Given the description of an element on the screen output the (x, y) to click on. 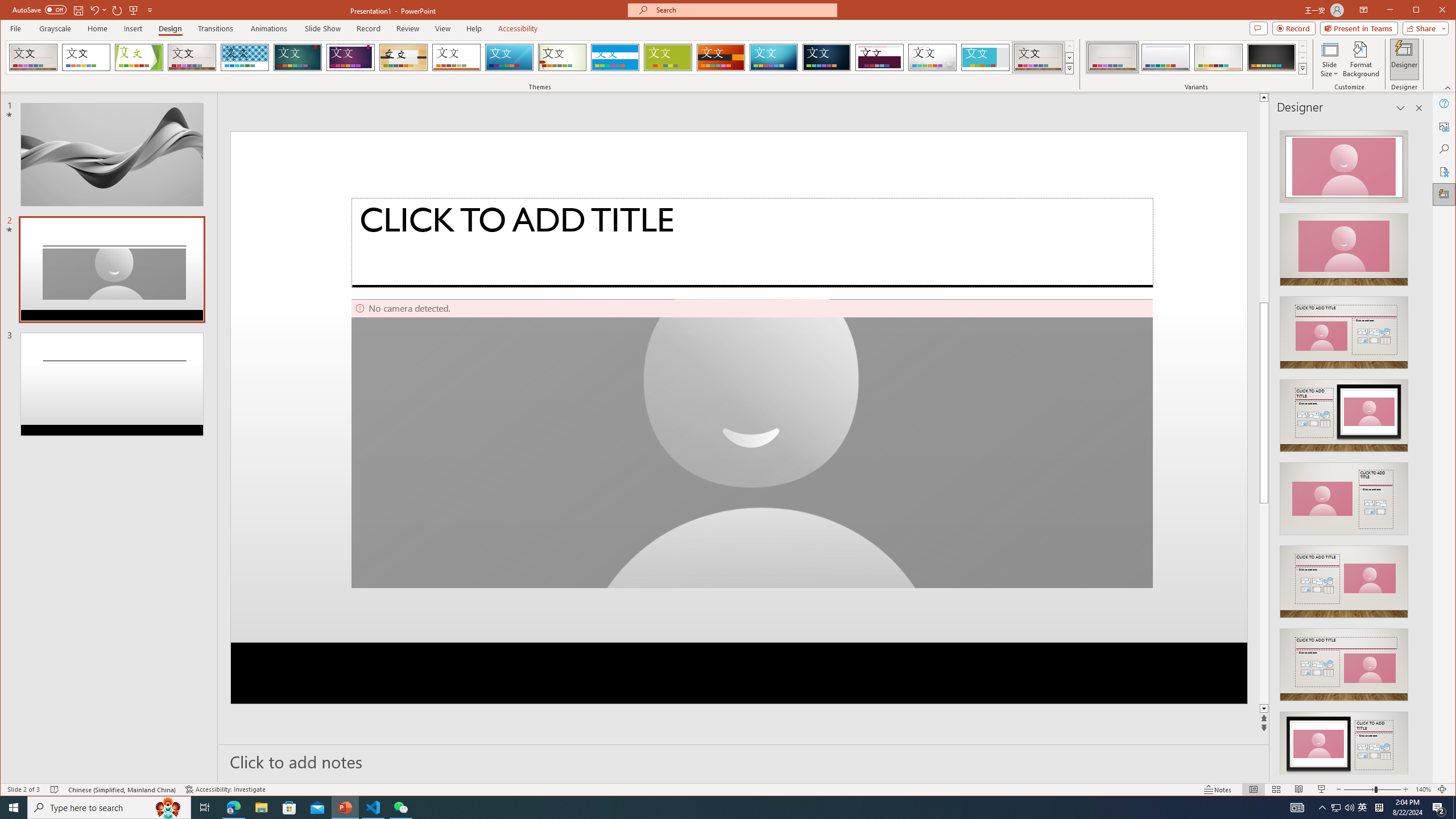
Slice (509, 57)
Themes (1069, 68)
Line up (1263, 96)
Microsoft Store (289, 807)
Designer (1444, 194)
Maximize (1432, 11)
Berlin (720, 57)
Slide Size (1328, 59)
